Given the description of an element on the screen output the (x, y) to click on. 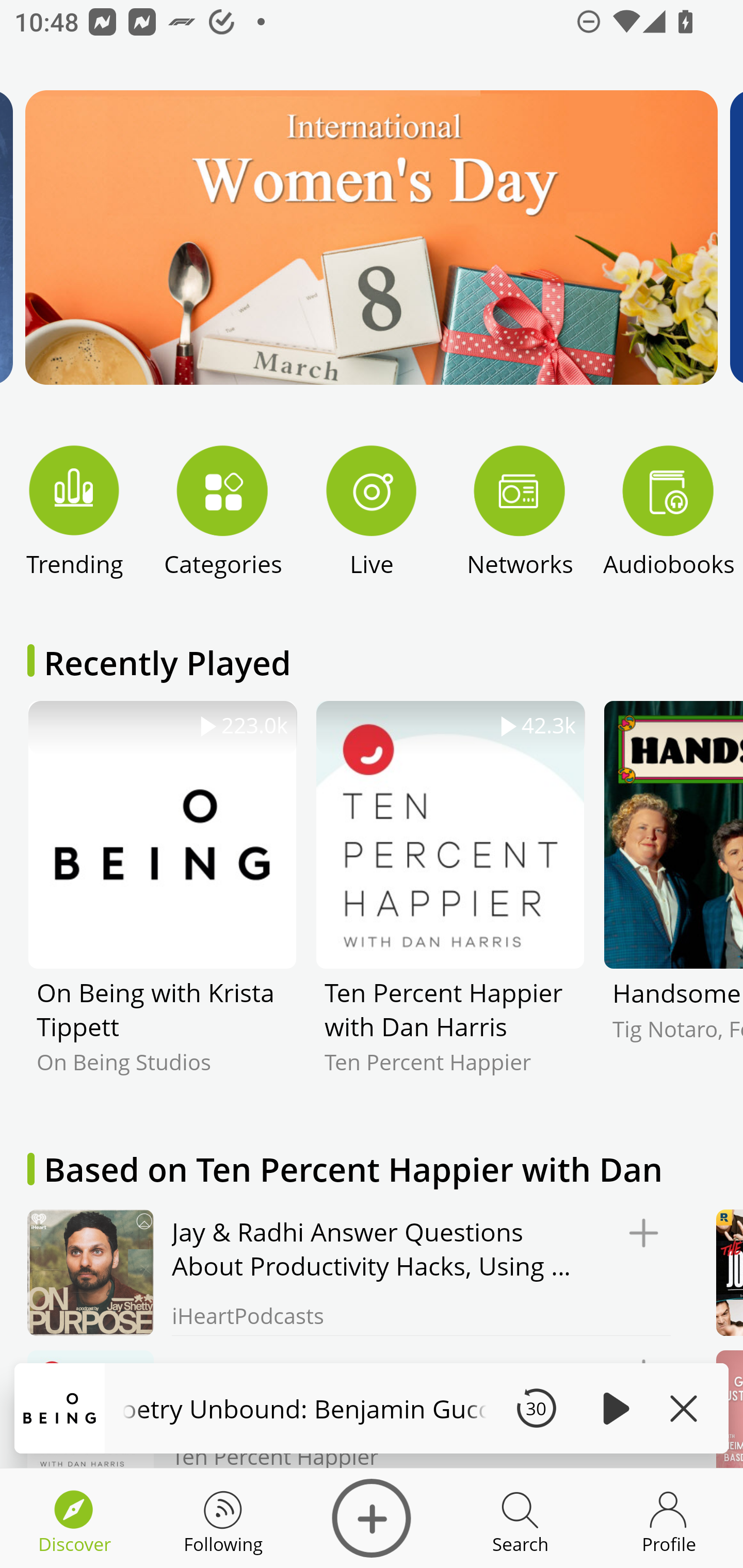
Handsome Tig Notaro, Fortune Feimster, Mae Martin (673, 902)
Play (613, 1407)
30 Seek Backward (536, 1407)
Discover Following (222, 1518)
Discover (371, 1518)
Discover Search (519, 1518)
Discover Profile (668, 1518)
